Given the description of an element on the screen output the (x, y) to click on. 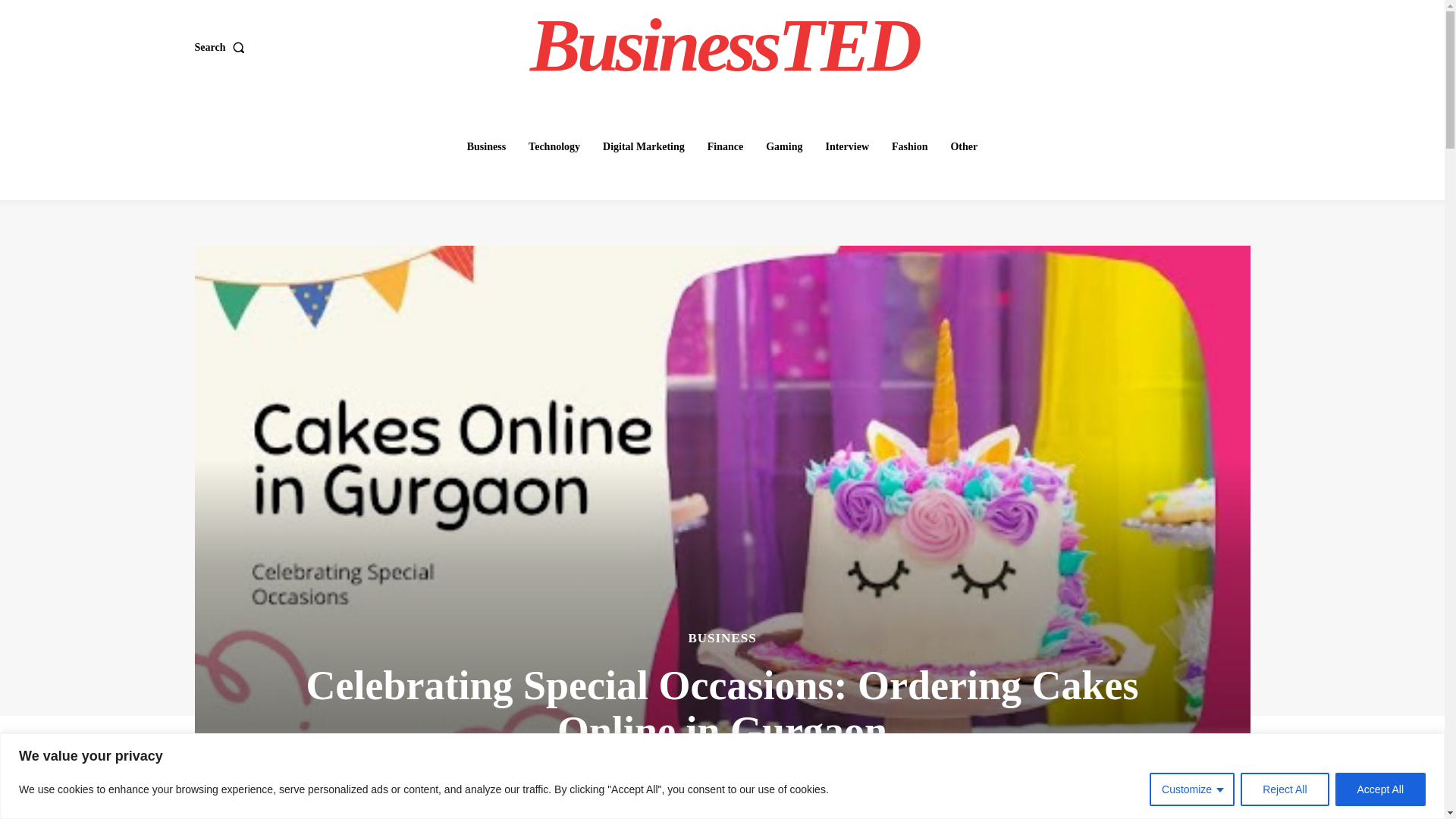
Reject All (1283, 788)
BusinessTED (724, 45)
Business (486, 146)
Customize (1192, 788)
Search (221, 47)
Accept All (1380, 788)
